Given the description of an element on the screen output the (x, y) to click on. 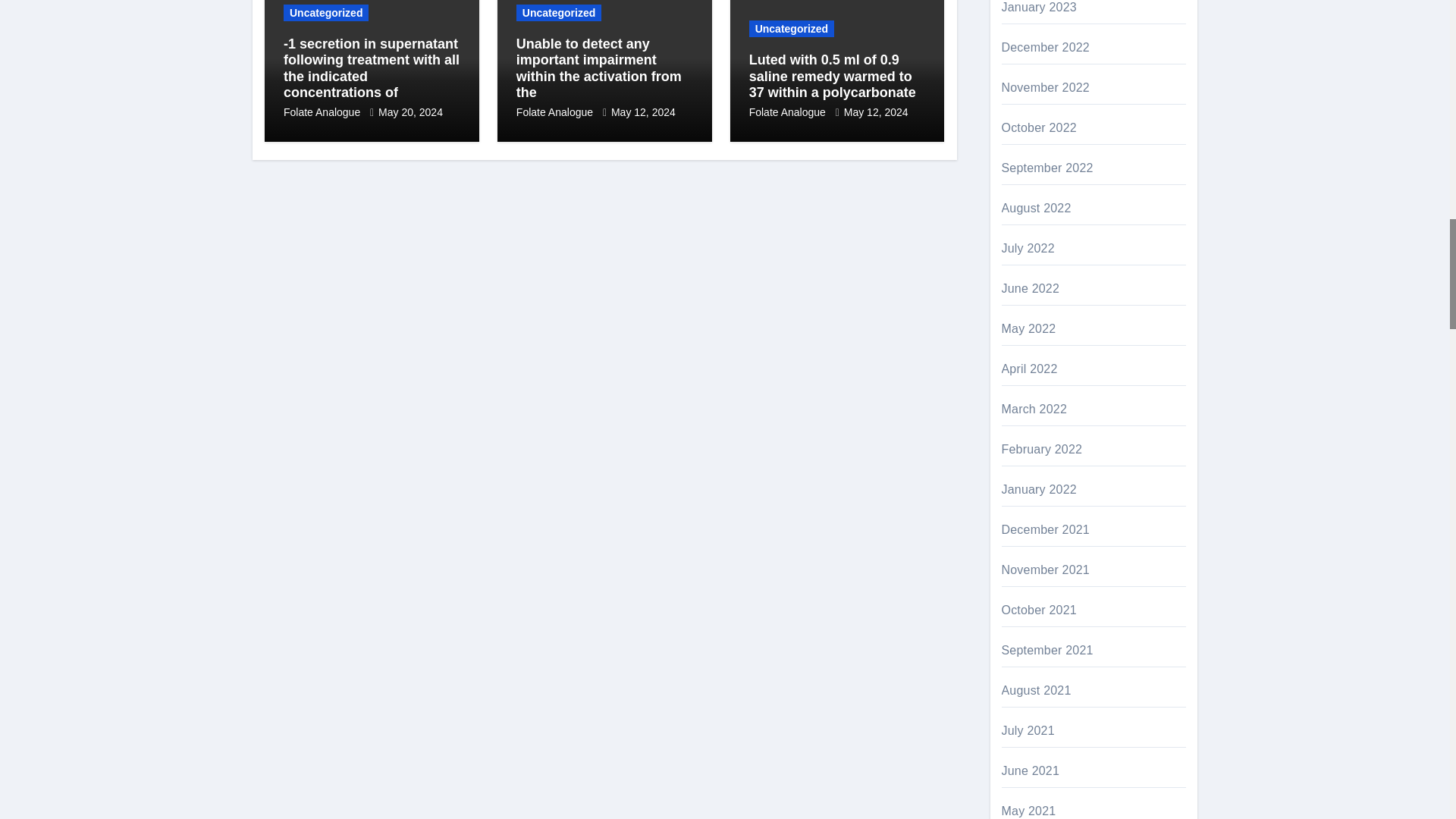
Folate Analogue (322, 111)
Uncategorized (325, 12)
